Given the description of an element on the screen output the (x, y) to click on. 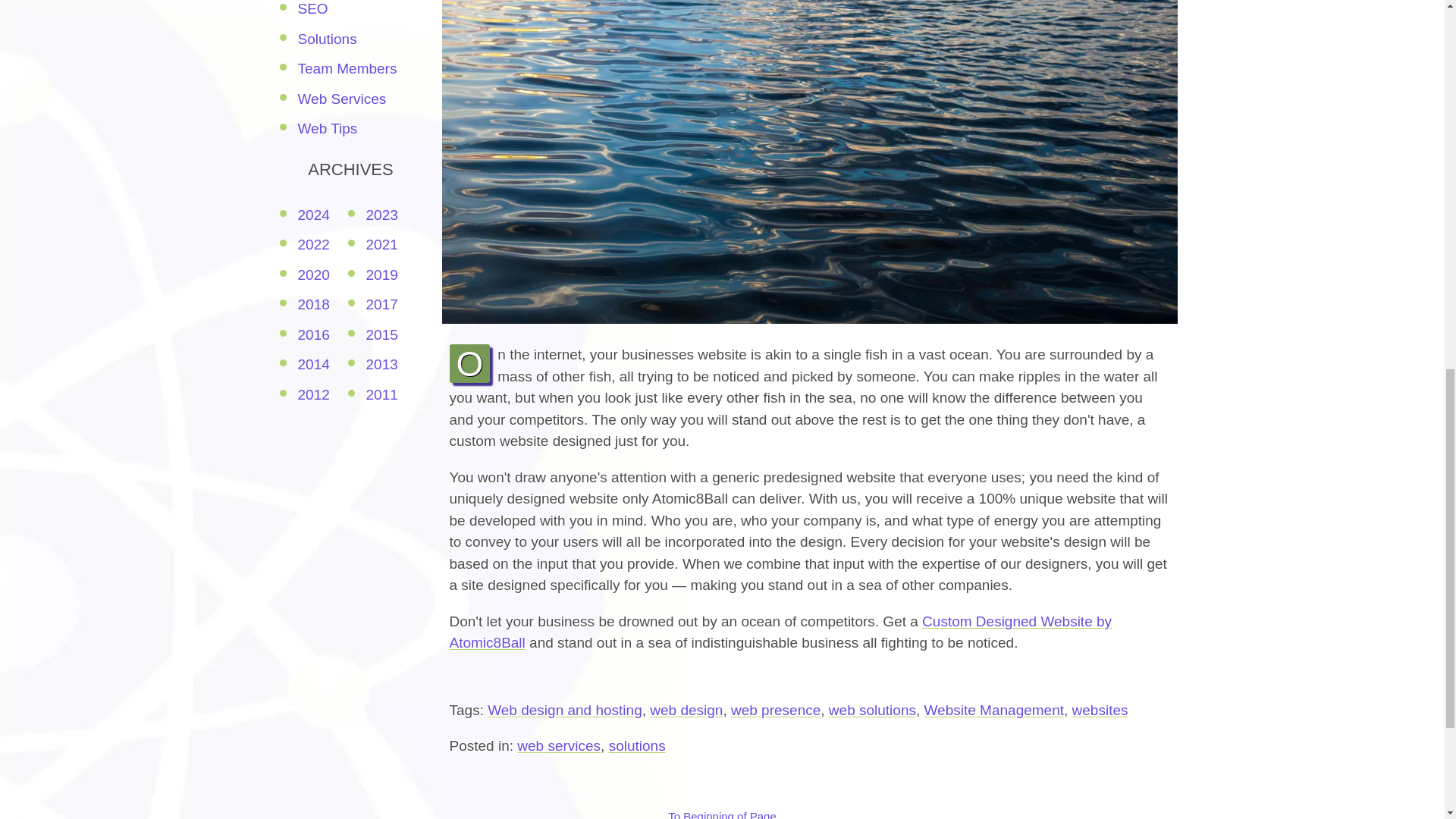
Web Tips (326, 128)
websites (1099, 709)
web design (685, 709)
web presence (775, 709)
web services (557, 745)
2022 (313, 244)
Team Members (346, 68)
Solutions (326, 38)
solutions (636, 745)
Web Services (341, 98)
SEO (312, 8)
2023 (381, 214)
2021 (381, 244)
Web design and hosting (564, 709)
Custom Designed Website by Atomic8Ball (780, 632)
